Given the description of an element on the screen output the (x, y) to click on. 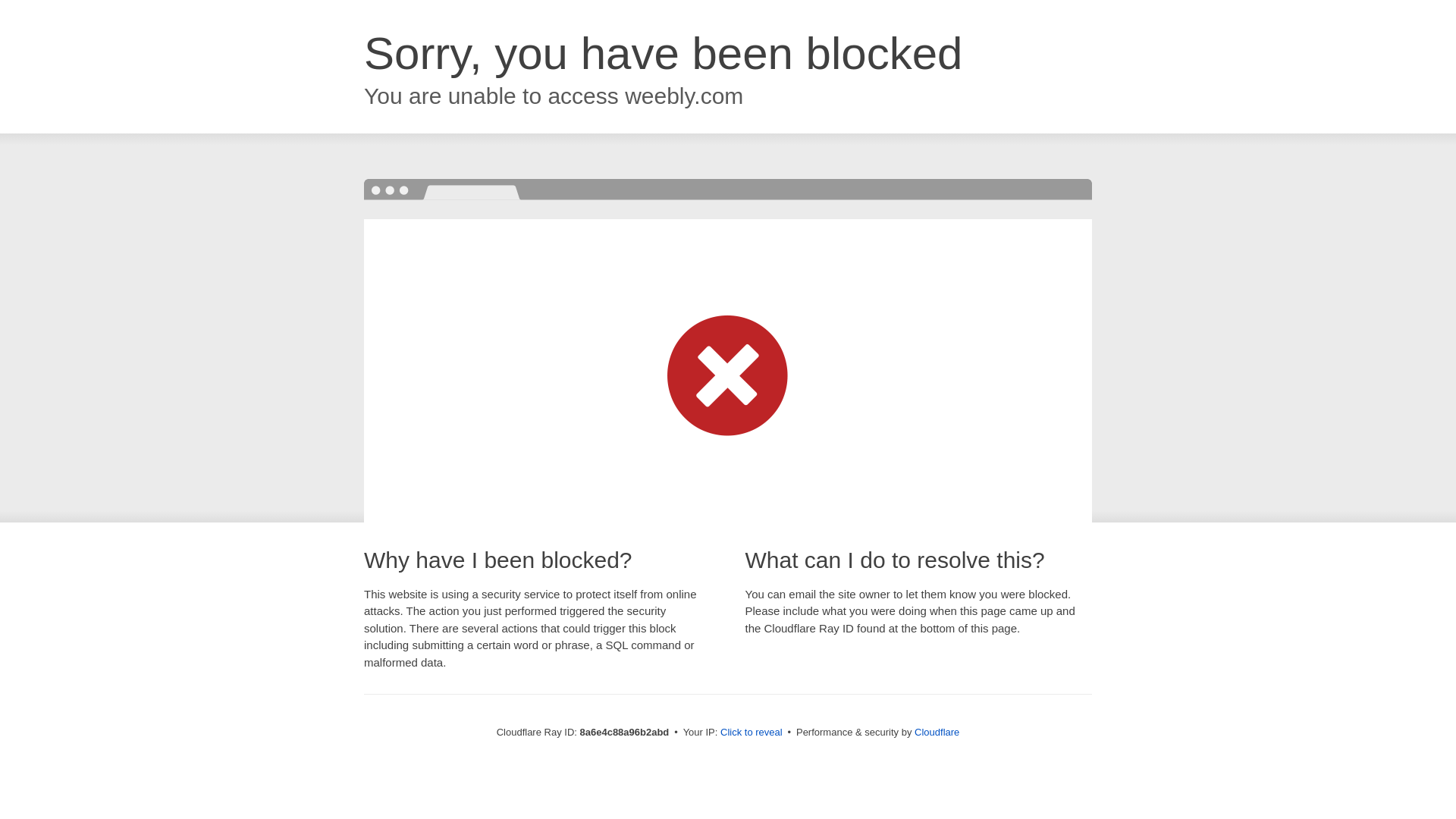
Click to reveal (751, 732)
Cloudflare (936, 731)
